Given the description of an element on the screen output the (x, y) to click on. 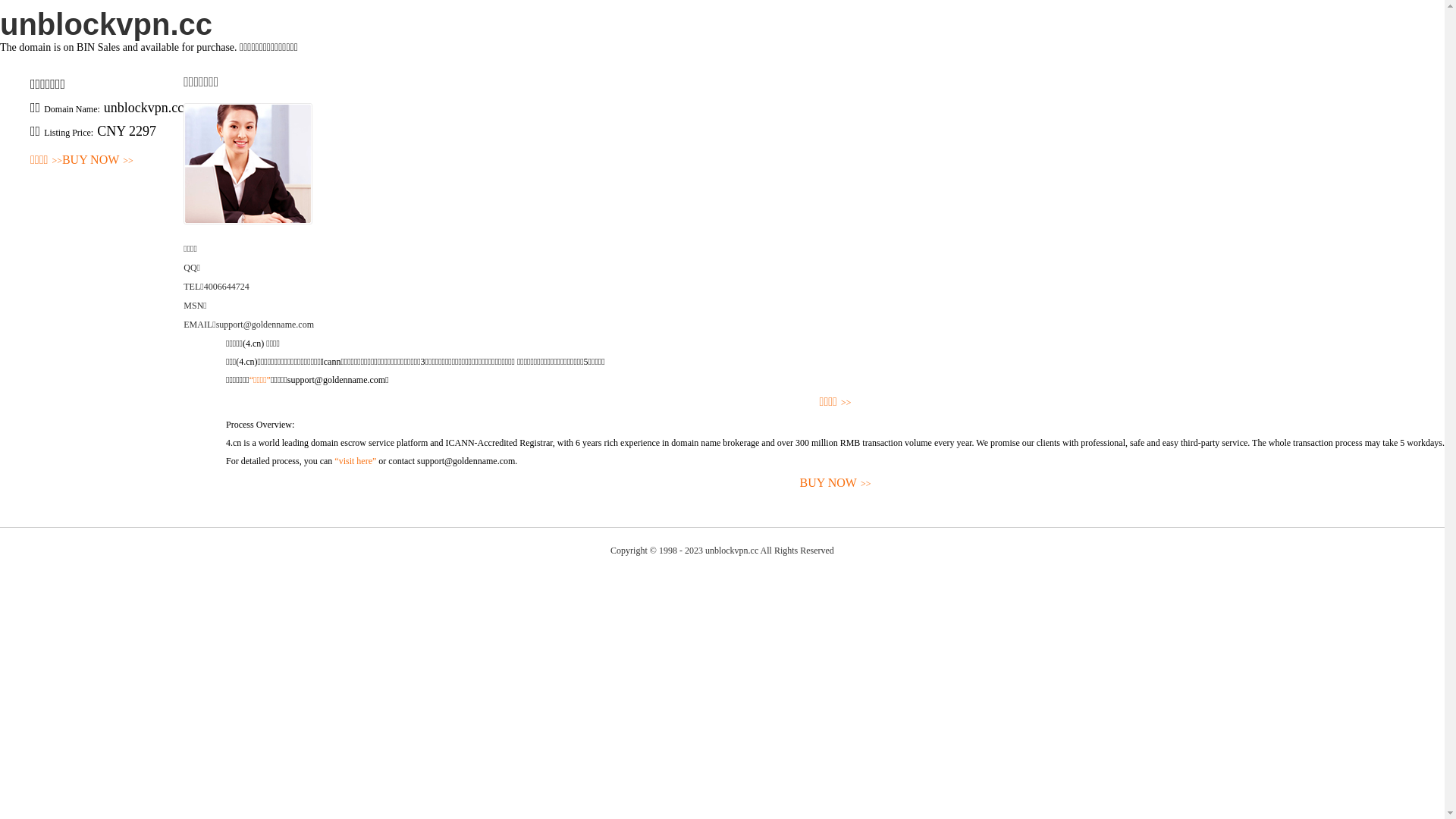
BUY NOW>> Element type: text (97, 160)
BUY NOW>> Element type: text (834, 483)
